Given the description of an element on the screen output the (x, y) to click on. 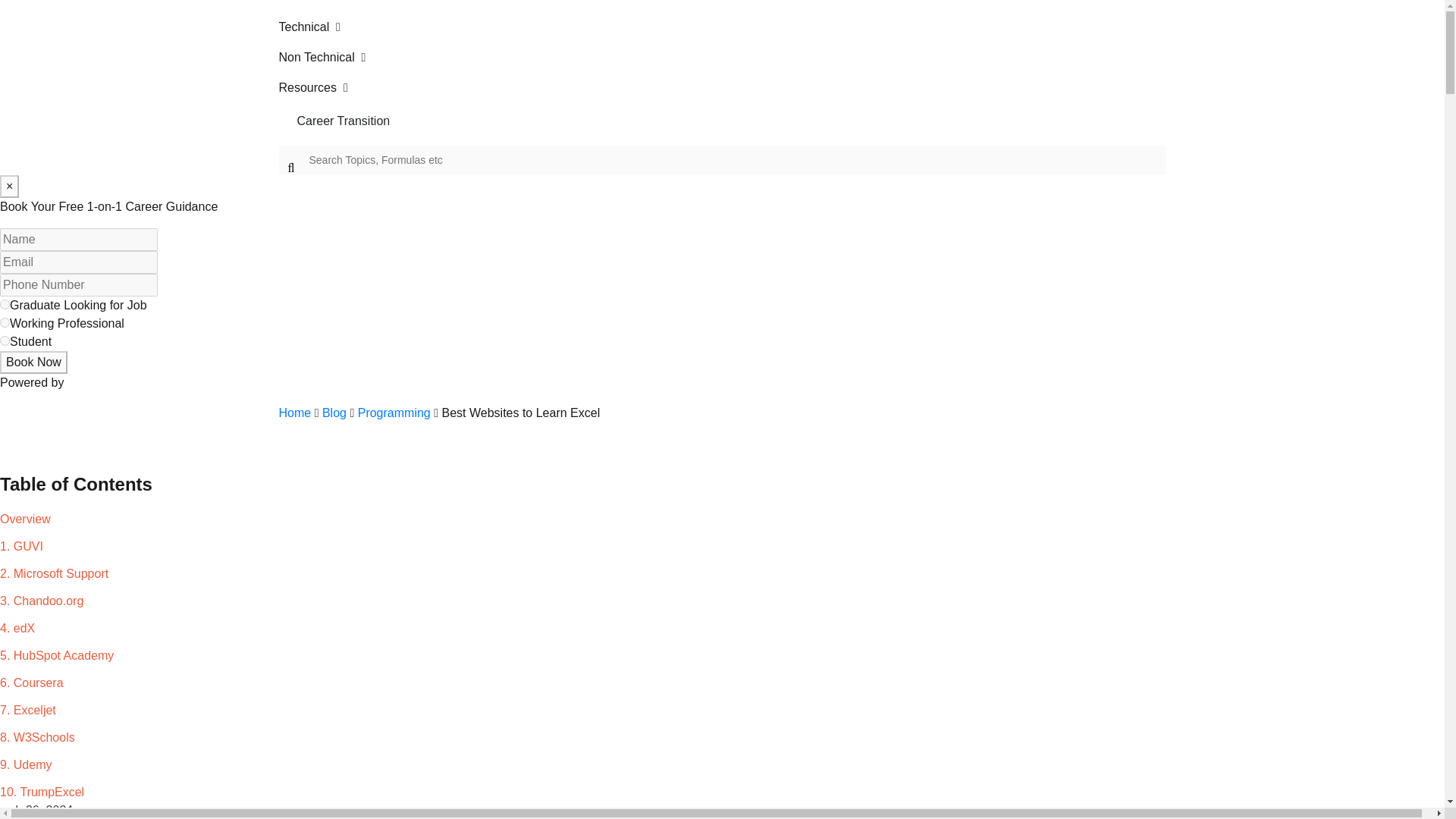
Career Transition (722, 120)
Graduate Looking for Job (5, 304)
Working Professional (5, 322)
Student (5, 340)
